Given the description of an element on the screen output the (x, y) to click on. 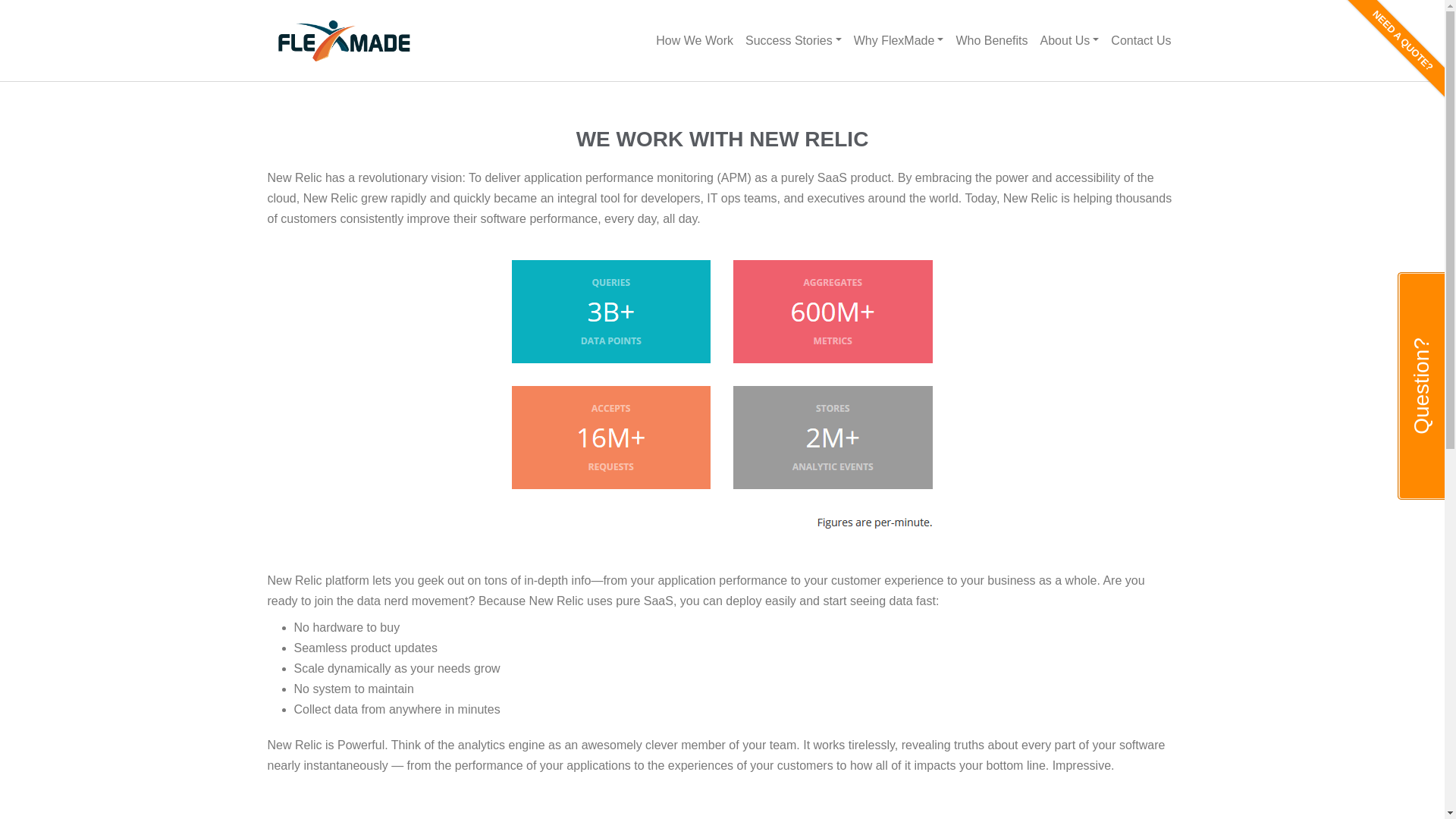
Success Stories (793, 40)
New Relic (721, 810)
How We Work (694, 40)
Who Benefits (991, 40)
About Us (1069, 40)
Why FlexMade (898, 40)
Contact Us (1140, 40)
